Given the description of an element on the screen output the (x, y) to click on. 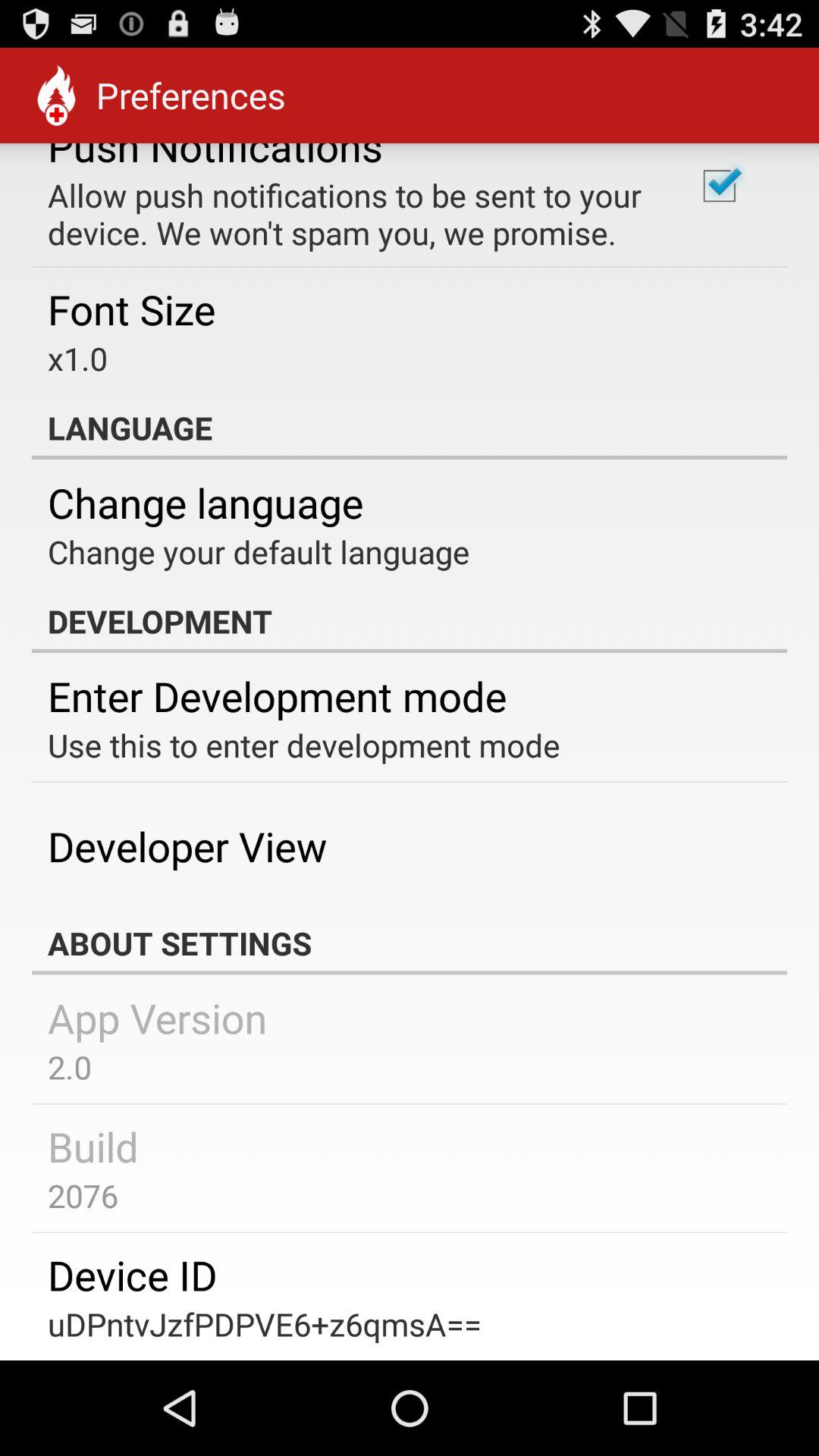
choose the item above the developer view icon (303, 744)
